Given the description of an element on the screen output the (x, y) to click on. 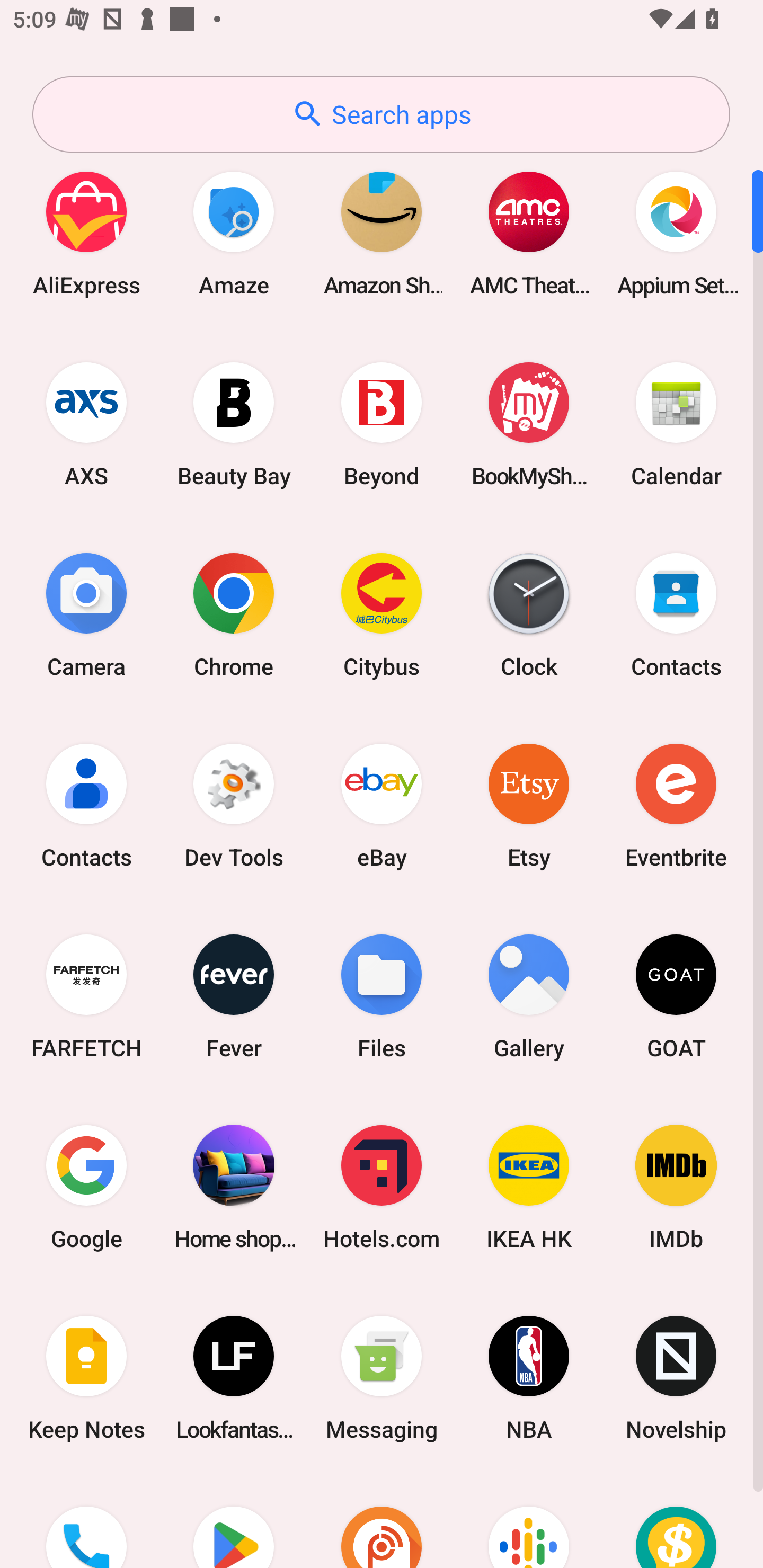
  Search apps (381, 114)
AliExpress (86, 233)
Amaze (233, 233)
Amazon Shopping (381, 233)
AMC Theatres (528, 233)
Appium Settings (676, 233)
AXS (86, 424)
Beauty Bay (233, 424)
Beyond (381, 424)
BookMyShow (528, 424)
Calendar (676, 424)
Camera (86, 614)
Chrome (233, 614)
Citybus (381, 614)
Clock (528, 614)
Contacts (676, 614)
Contacts (86, 805)
Dev Tools (233, 805)
eBay (381, 805)
Etsy (528, 805)
Eventbrite (676, 805)
FARFETCH (86, 996)
Fever (233, 996)
Files (381, 996)
Gallery (528, 996)
GOAT (676, 996)
Google (86, 1186)
Home shopping (233, 1186)
Hotels.com (381, 1186)
IKEA HK (528, 1186)
IMDb (676, 1186)
Keep Notes (86, 1377)
Lookfantastic (233, 1377)
Messaging (381, 1377)
NBA (528, 1377)
Novelship (676, 1377)
Phone (86, 1520)
Play Store (233, 1520)
Podcast Addict (381, 1520)
Podcasts (528, 1520)
Price (676, 1520)
